Given the description of an element on the screen output the (x, y) to click on. 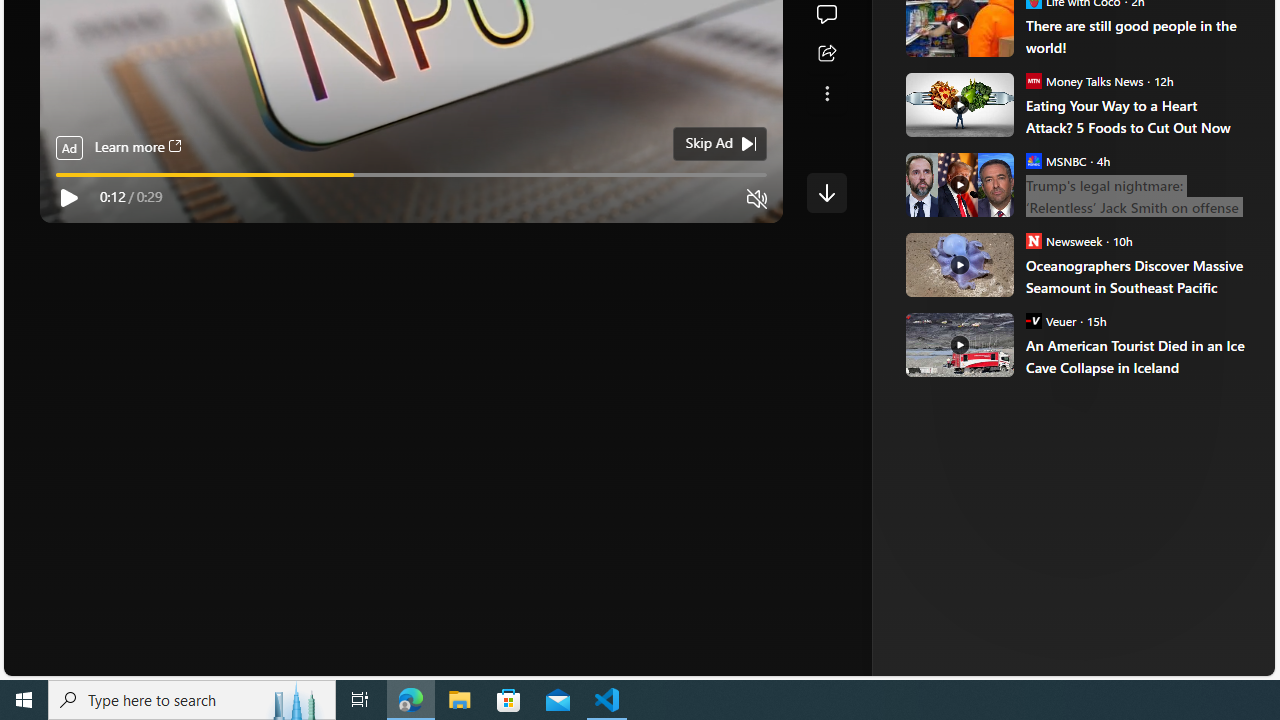
Money Talks News Money Talks News (1084, 80)
ABC News (974, 12)
